Given the description of an element on the screen output the (x, y) to click on. 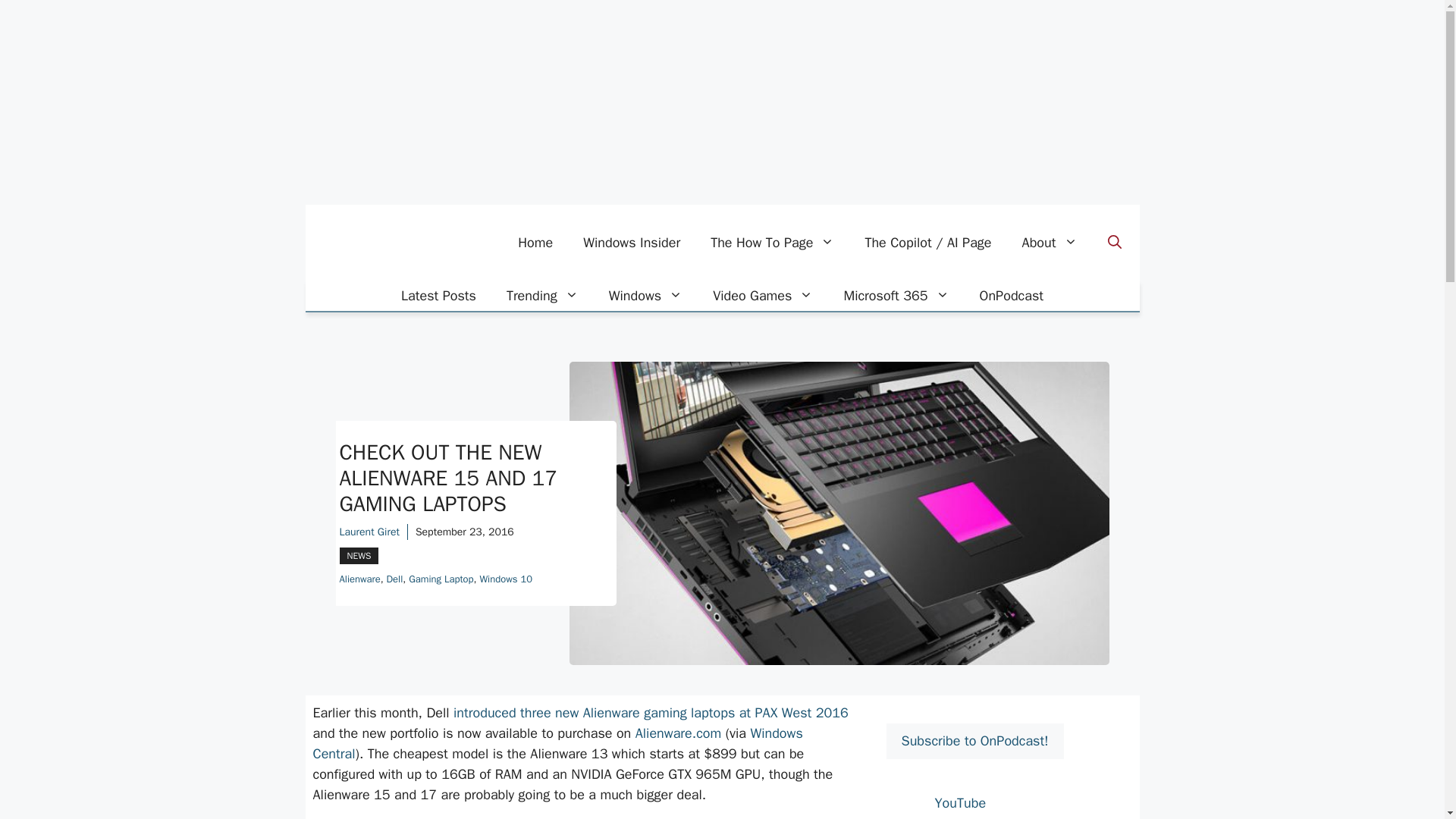
Latest Posts (438, 295)
About (1050, 242)
Home (534, 242)
Video Games (762, 295)
The How To Page (771, 242)
Trending (543, 295)
Windows (645, 295)
Windows Insider (631, 242)
